Given the description of an element on the screen output the (x, y) to click on. 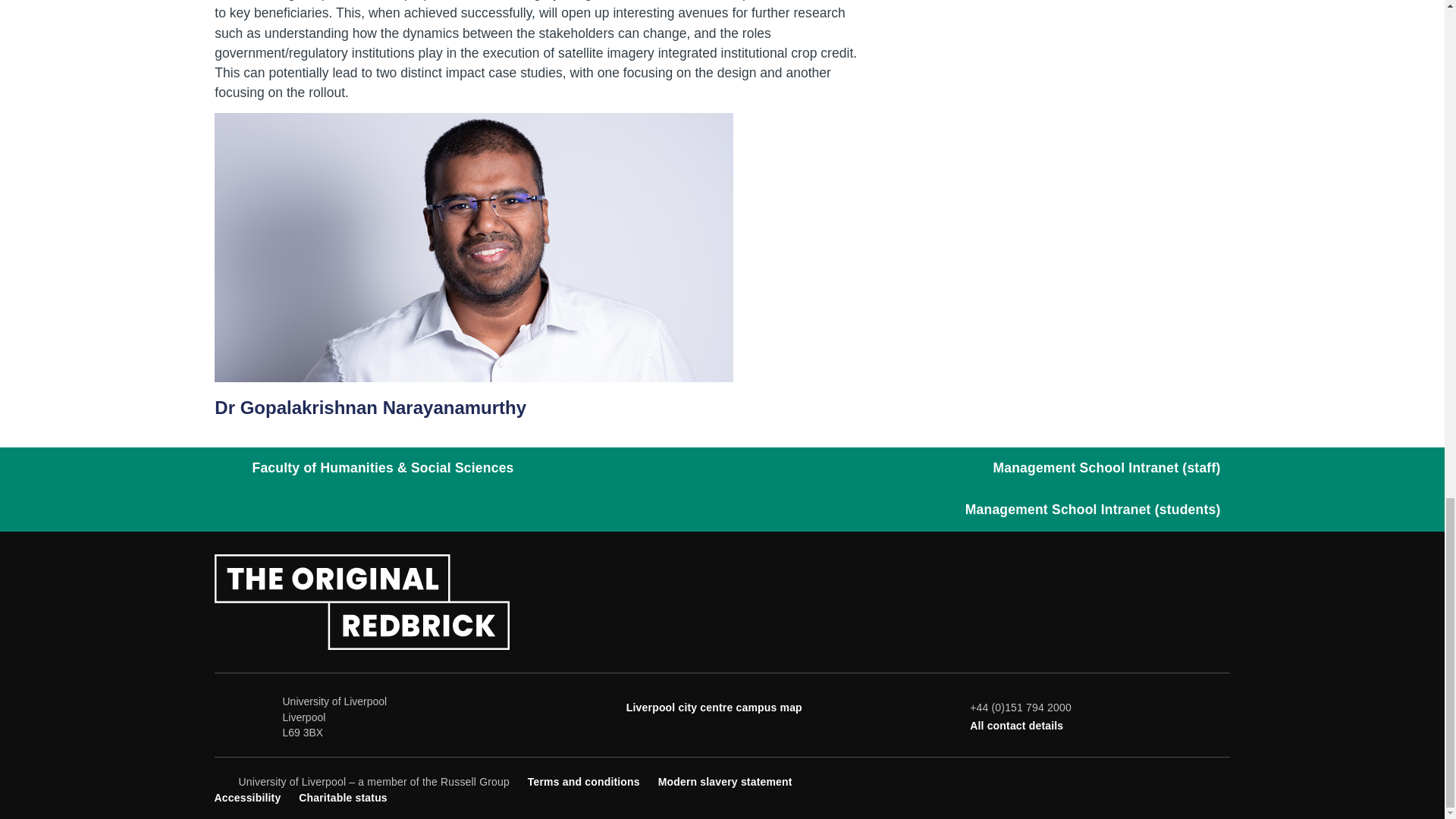
Terms and Conditions (583, 781)
Maps (714, 707)
youtube (1170, 779)
linkedin (1220, 779)
Modern slavery statement (725, 781)
instagram (1196, 779)
twitter (1146, 779)
facebook (1121, 779)
Contact us (1015, 725)
